Given the description of an element on the screen output the (x, y) to click on. 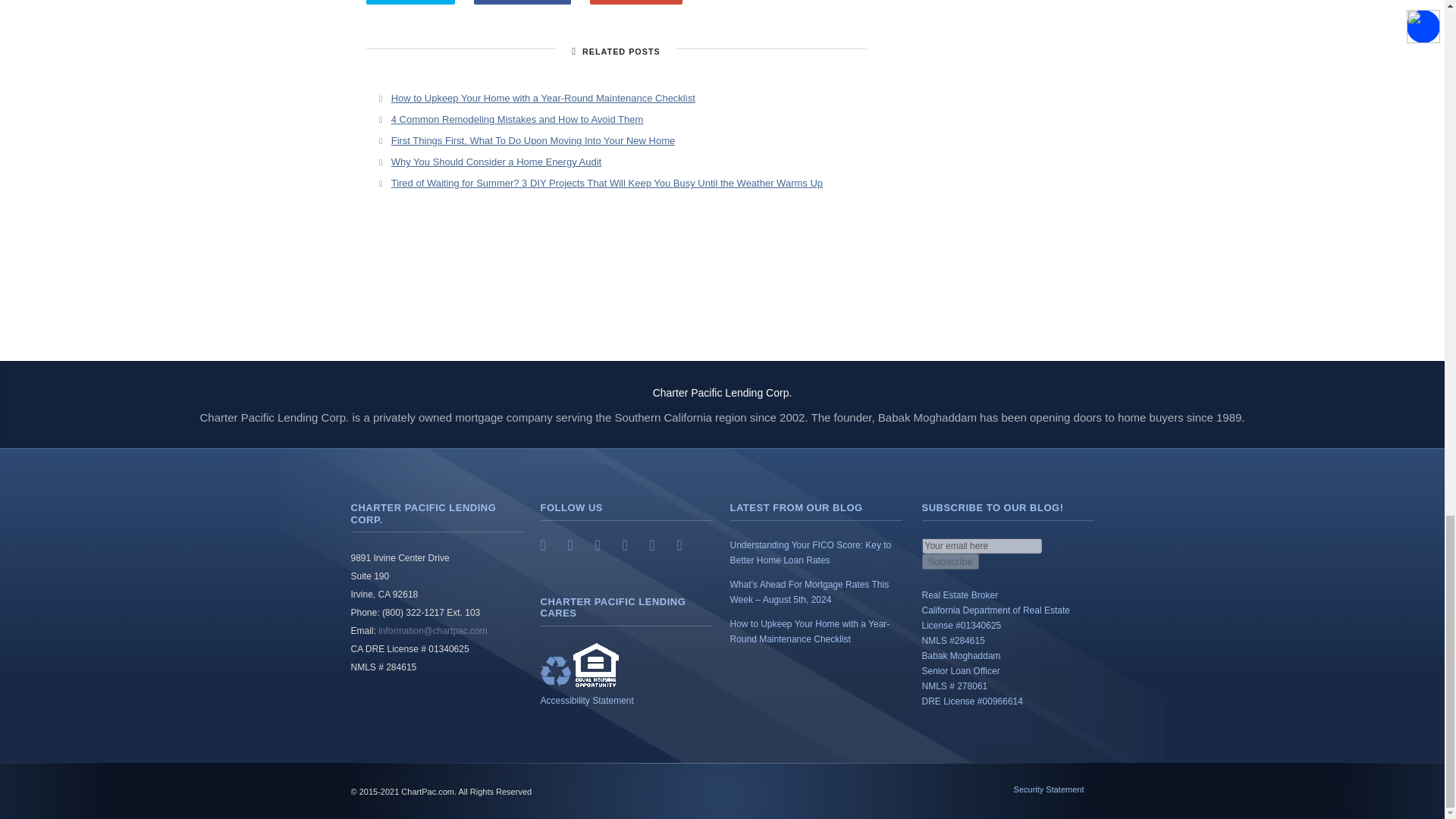
Your email here (981, 545)
4 Common Remodeling Mistakes and How to Avoid Them (517, 119)
Your email here (981, 545)
